Given the description of an element on the screen output the (x, y) to click on. 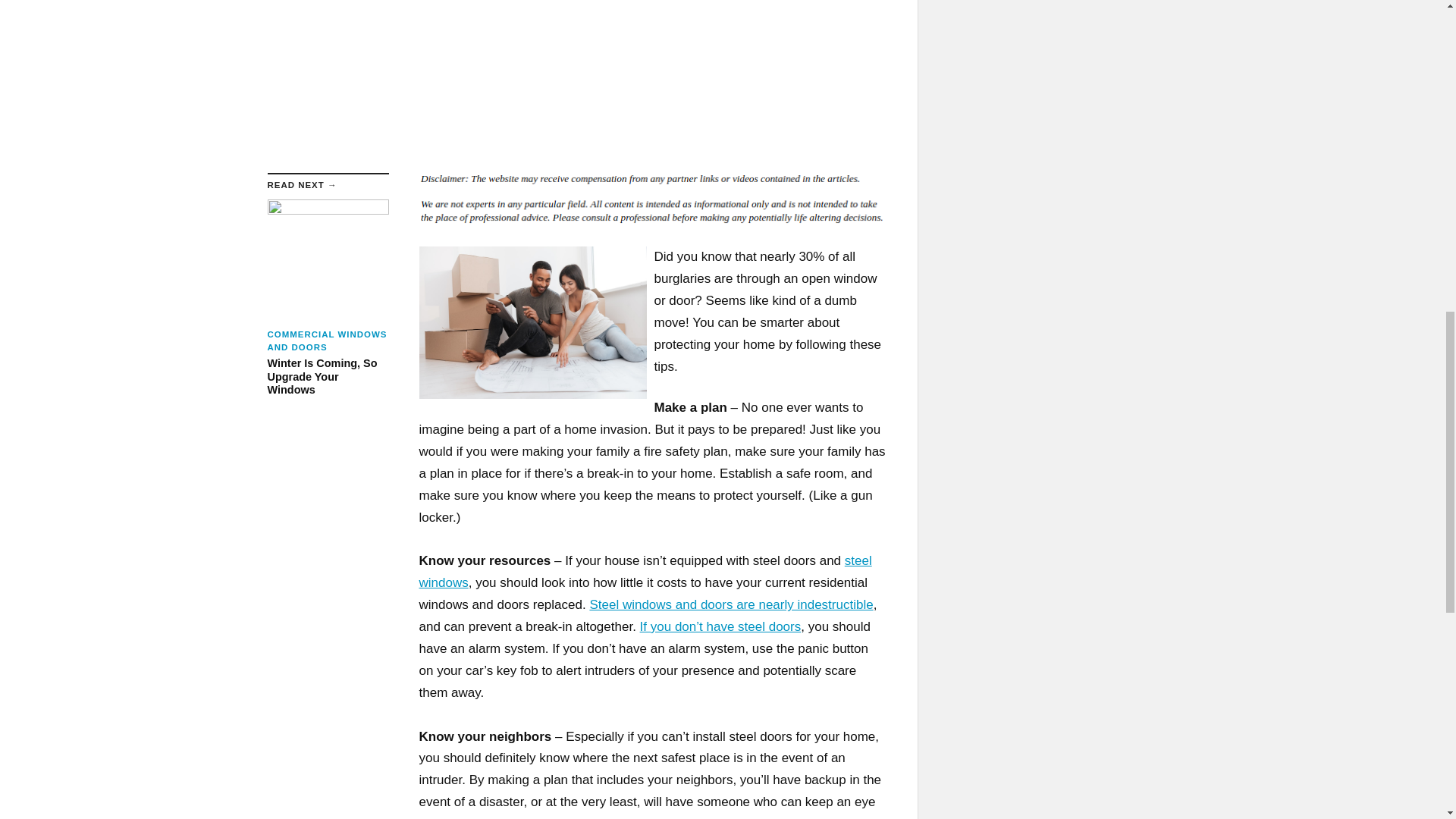
I link here (730, 604)
steel windows (644, 571)
Commercial windows (644, 571)
Steel windows and doors are nearly indestructible (730, 604)
For the real scoop on Custom steel windows (721, 626)
